Given the description of an element on the screen output the (x, y) to click on. 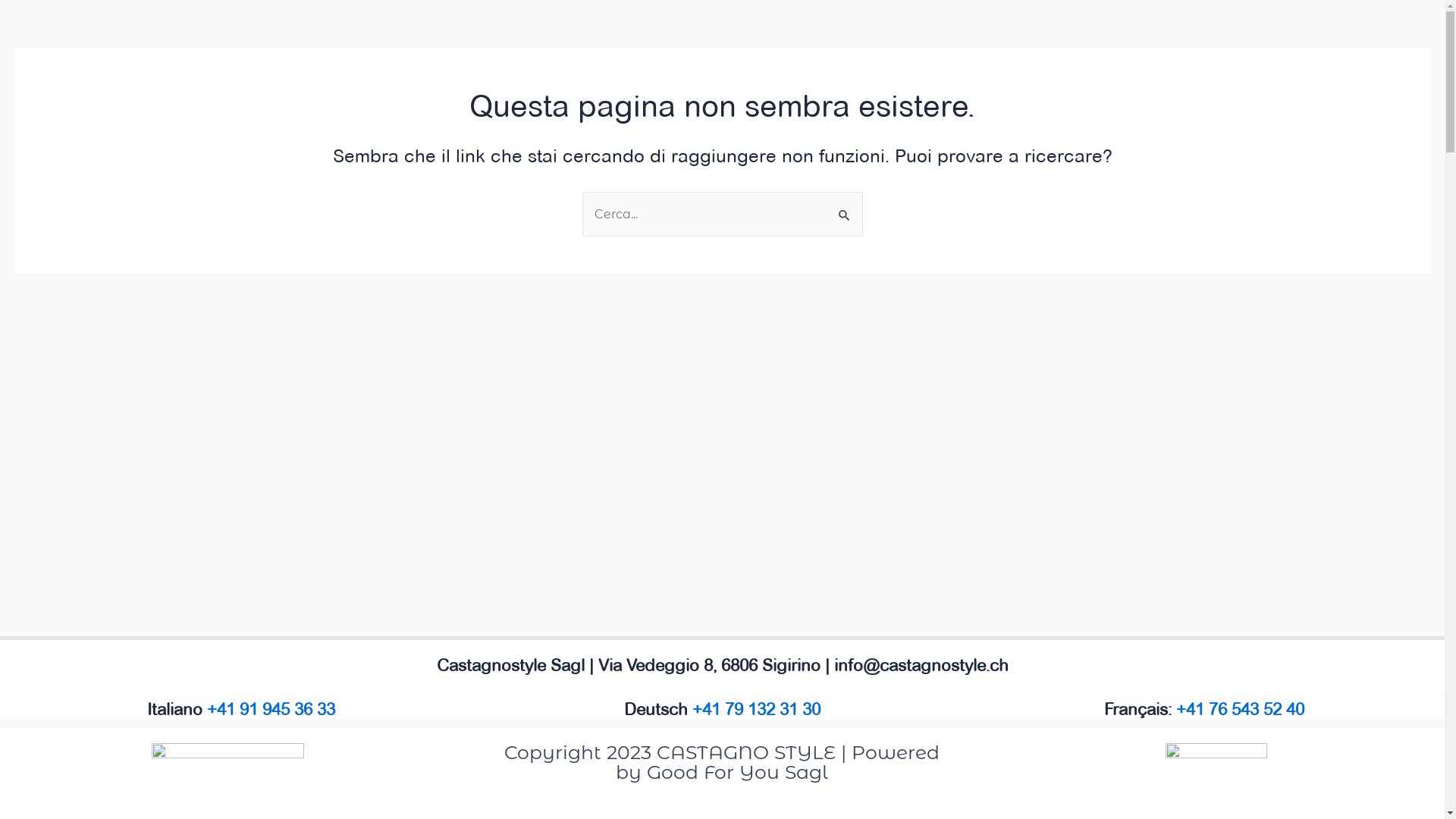
Cerca Element type: text (845, 207)
+41 91 945 36 33 Element type: text (270, 708)
+41 79 132 31 30 Element type: text (756, 708)
+41 76 543 52 40 Element type: text (1239, 708)
